Given the description of an element on the screen output the (x, y) to click on. 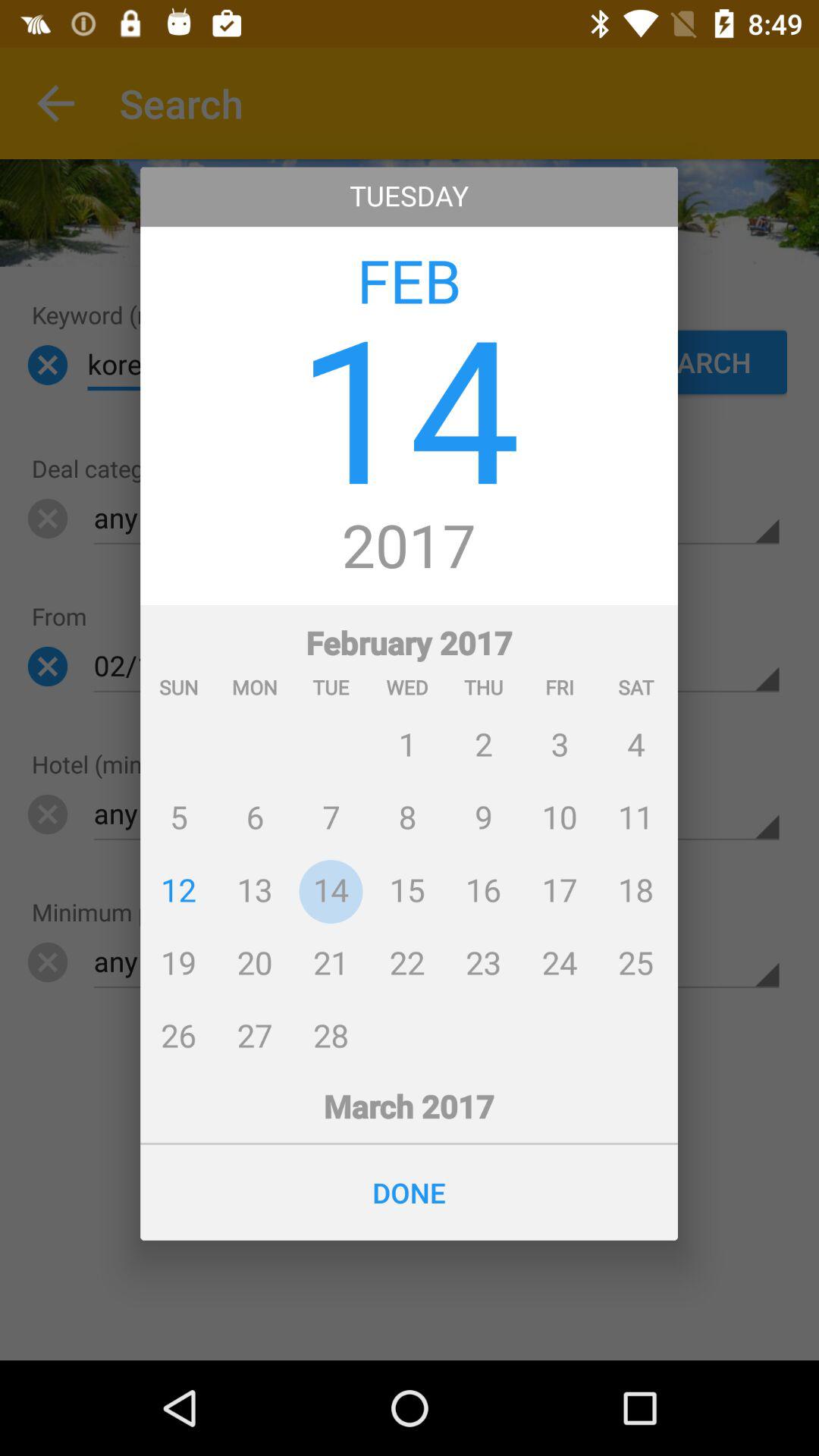
open done (408, 1192)
